Given the description of an element on the screen output the (x, y) to click on. 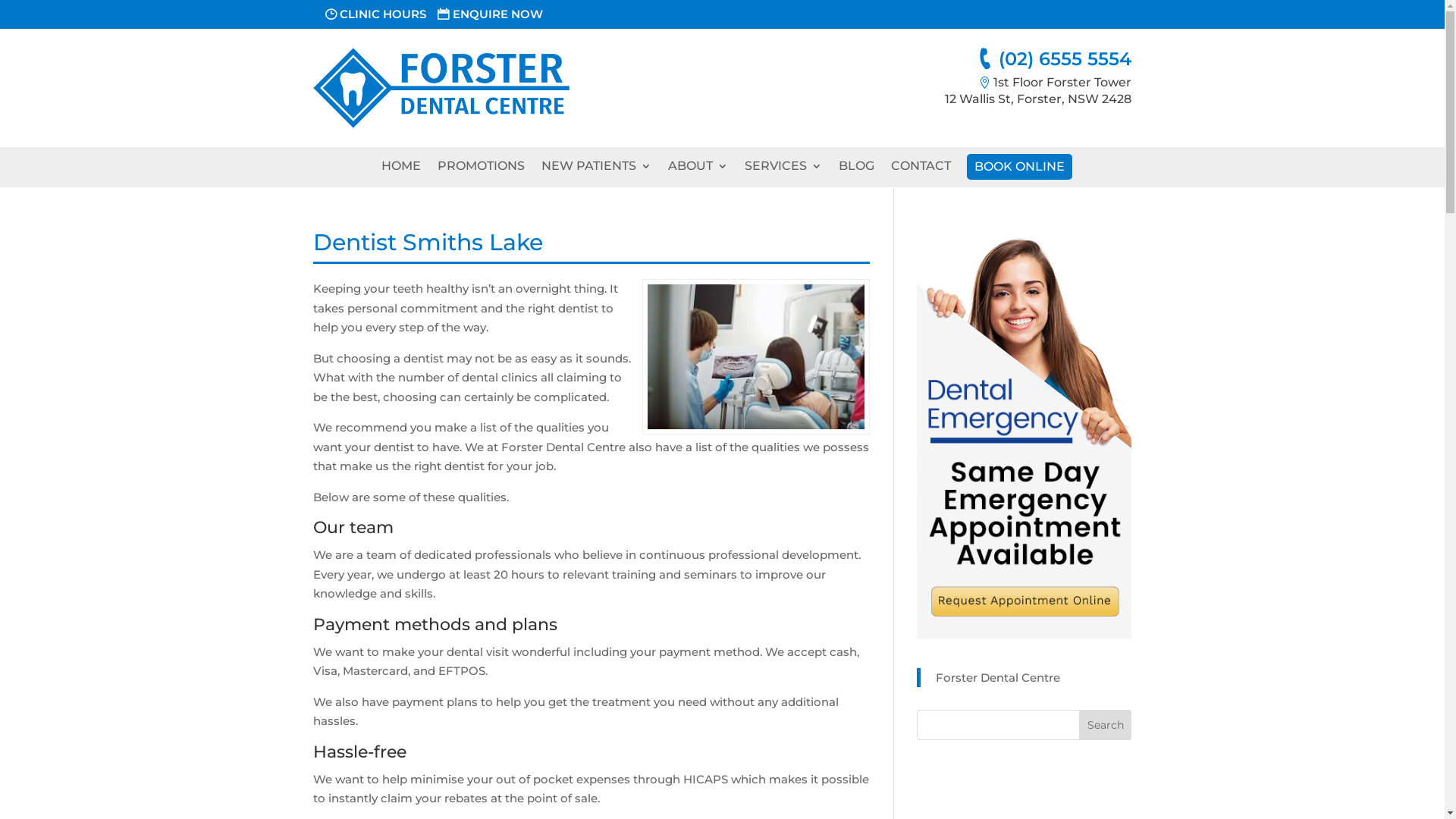
BLOG Element type: text (856, 169)
FDC-Logo Element type: hover (440, 87)
Forster Dental Centre Element type: text (997, 677)
Search Element type: text (1105, 724)
PROMOTIONS Element type: text (480, 169)
CONTACT Element type: text (920, 169)
HOME Element type: text (400, 169)
1st Floor Forster Tower
12 Wallis St, Forster, NSW 2428 Element type: text (1037, 90)
(02) 6555 5554 Element type: text (1053, 58)
ABOUT Element type: text (697, 169)
BOOK ONLINE Element type: text (1018, 169)
ENQUIRE NOW Element type: text (489, 13)
NEW PATIENTS Element type: text (596, 169)
CLINIC HOURS Element type: text (375, 13)
SERVICES Element type: text (783, 169)
